Given the description of an element on the screen output the (x, y) to click on. 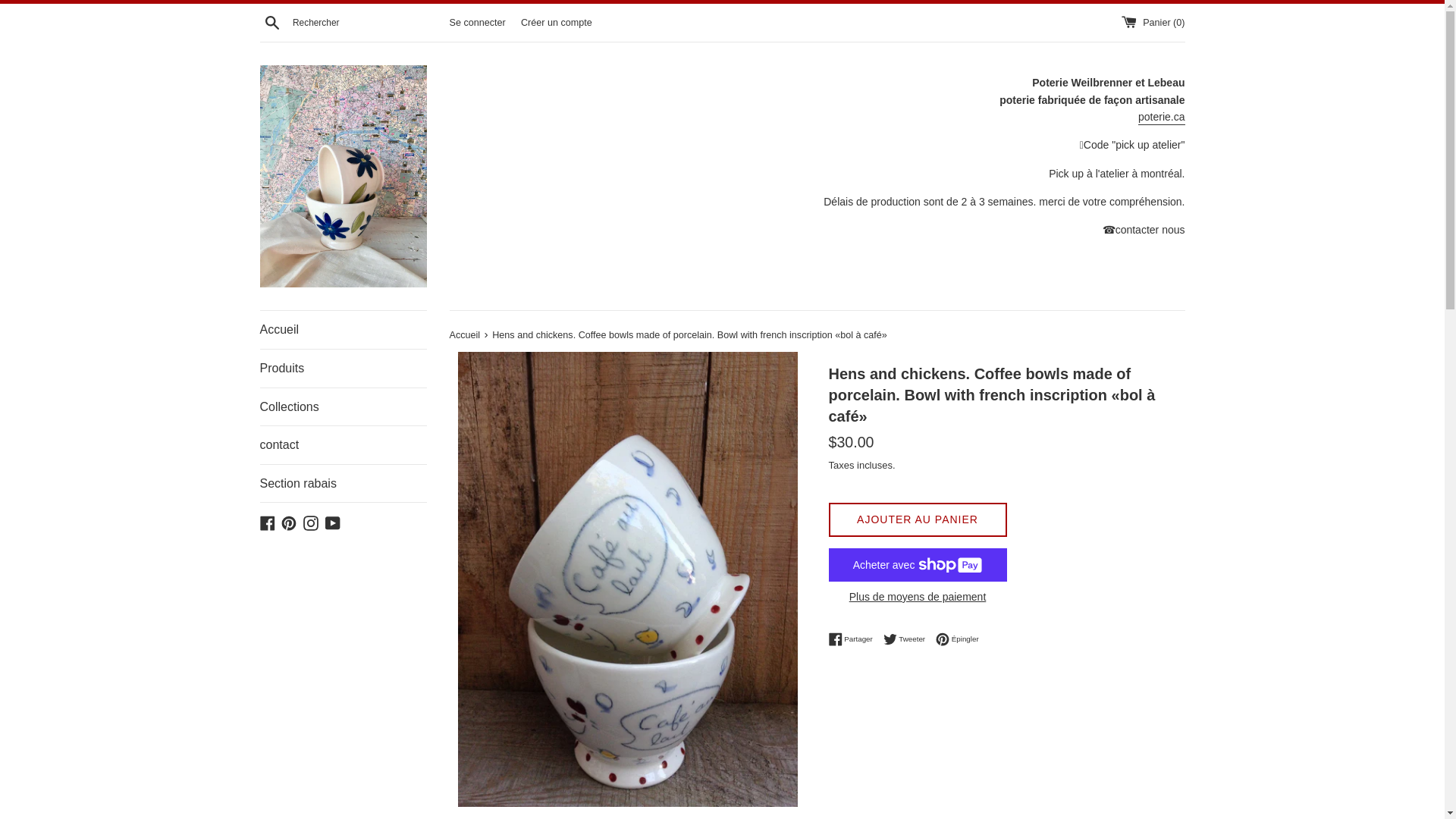
poterie weilbrenner lebeau sur YouTube (332, 521)
Accueil (853, 639)
poterie.ca (342, 329)
Section rabais (1161, 117)
Collections (342, 483)
YouTube (342, 406)
Facebook (332, 521)
Se connecter (267, 521)
contact (476, 21)
Recherche (342, 444)
Tweeter sur Twitter (271, 21)
Plus de moyens de paiement (908, 639)
poterie weilbrenner lebeau sur Pinterest (917, 597)
AJOUTER AU PANIER (289, 521)
